Given the description of an element on the screen output the (x, y) to click on. 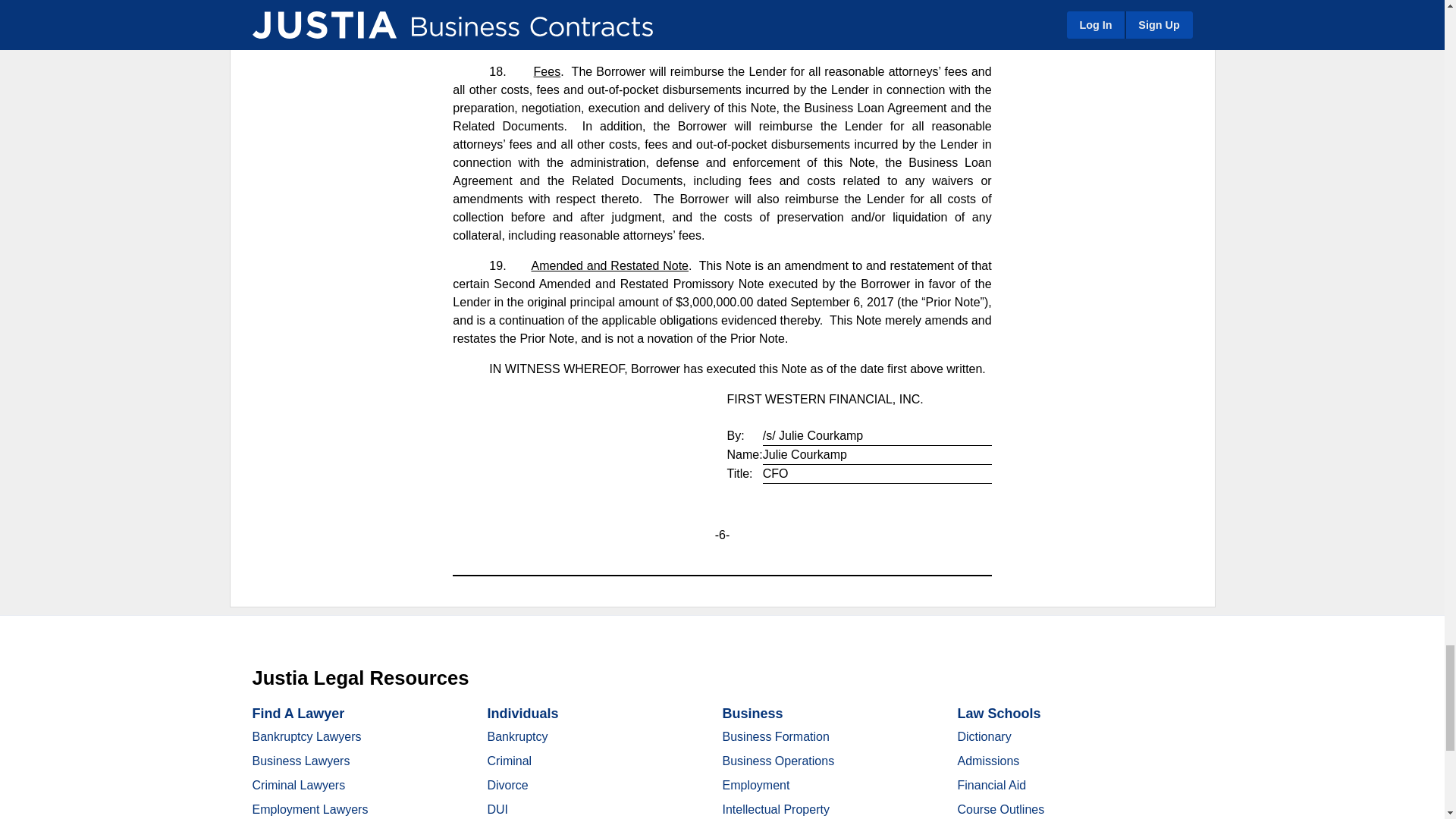
Employment Lawyers (309, 809)
Business Lawyers (300, 760)
Bankruptcy Lawyers (306, 736)
Criminal Lawyers (298, 784)
Find A Lawyer (297, 713)
